Given the description of an element on the screen output the (x, y) to click on. 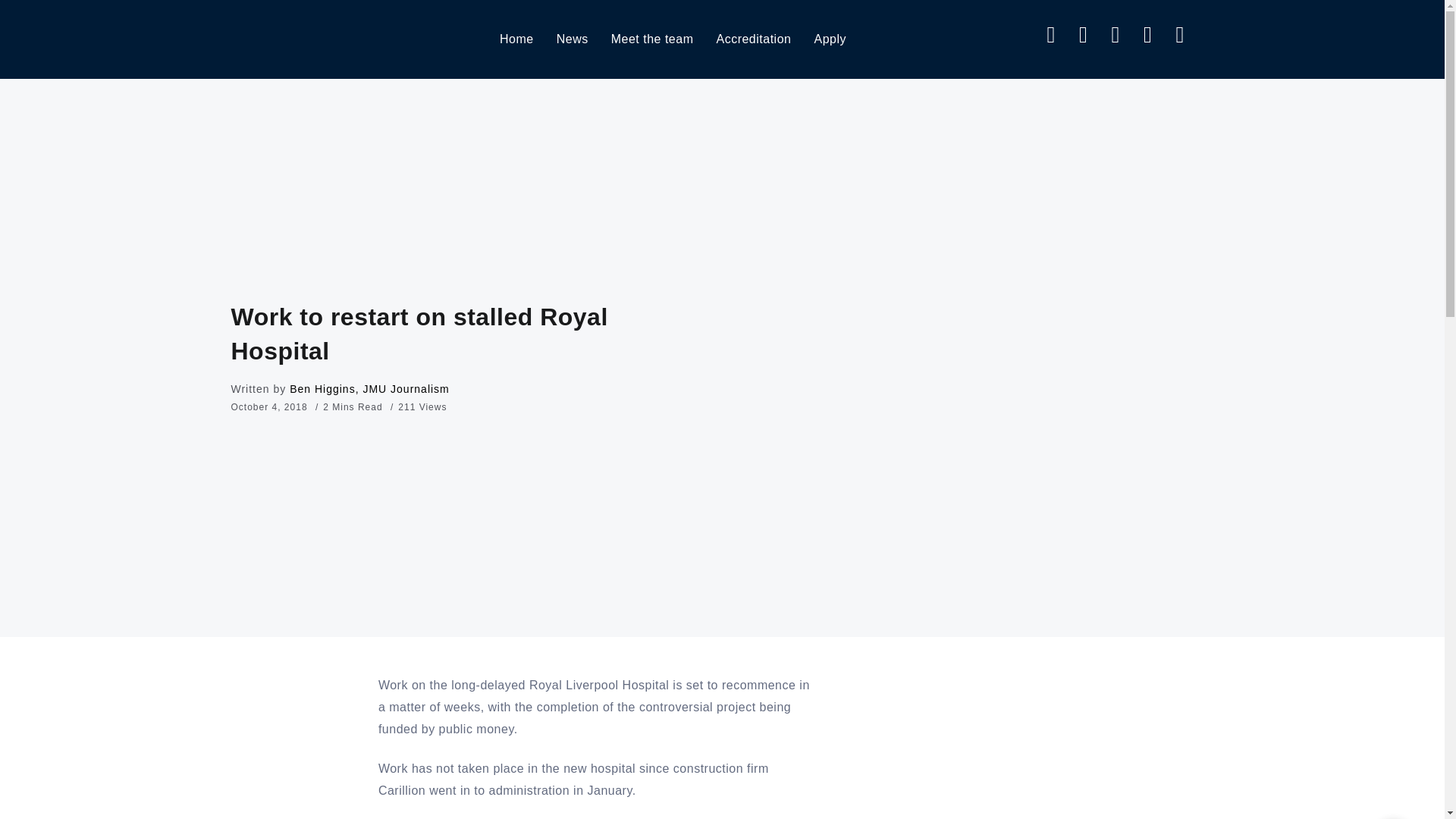
Home (516, 39)
Accreditation (753, 39)
News (572, 39)
Meet the team (652, 39)
Ben Higgins, JMU Journalism (369, 388)
Apply (829, 39)
